Given the description of an element on the screen output the (x, y) to click on. 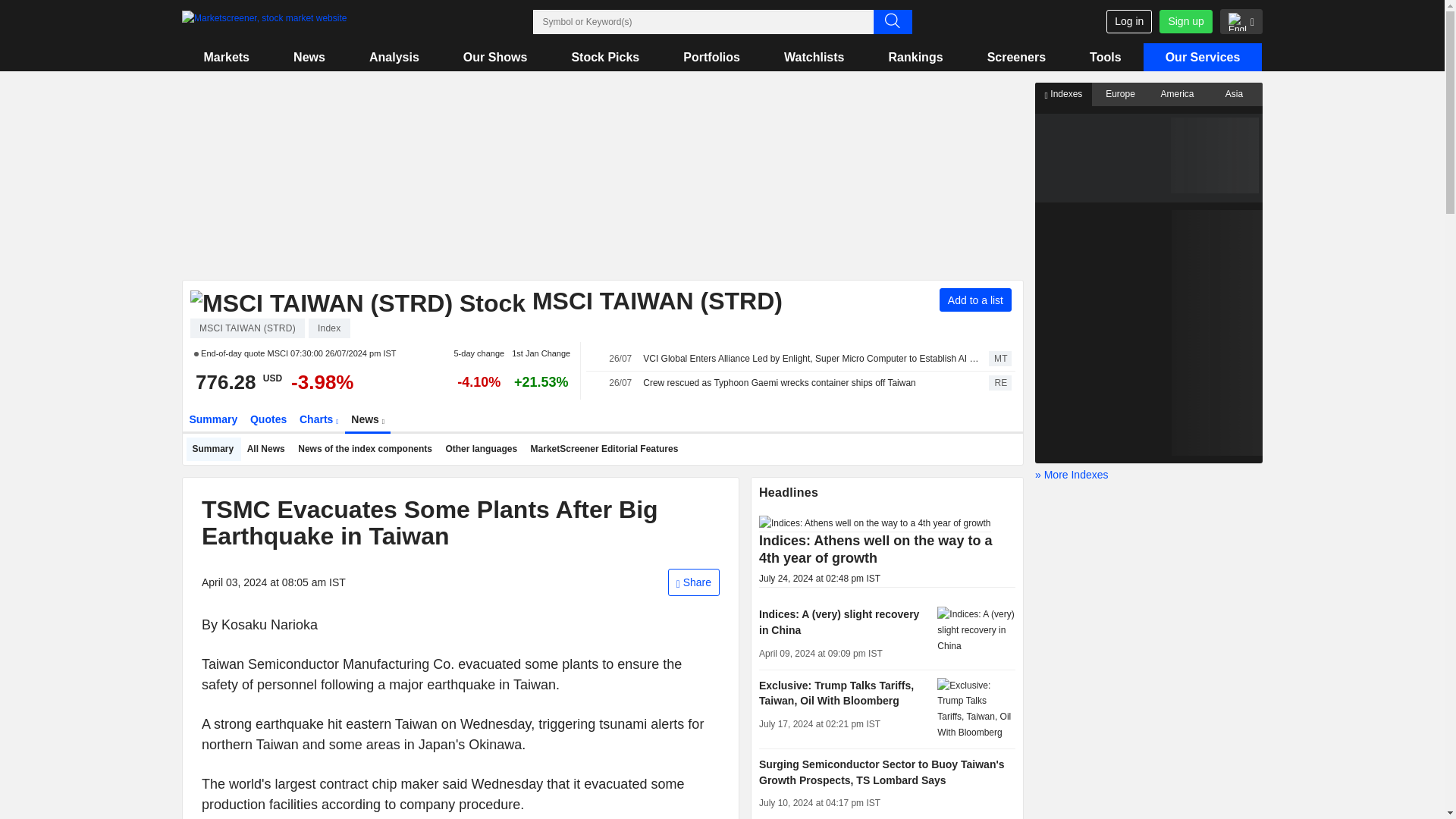
Marketscreener: stock market and financial news (264, 21)
Markets (226, 57)
Advanced search (892, 21)
Log in (1128, 21)
Sign up (1184, 21)
